Given the description of an element on the screen output the (x, y) to click on. 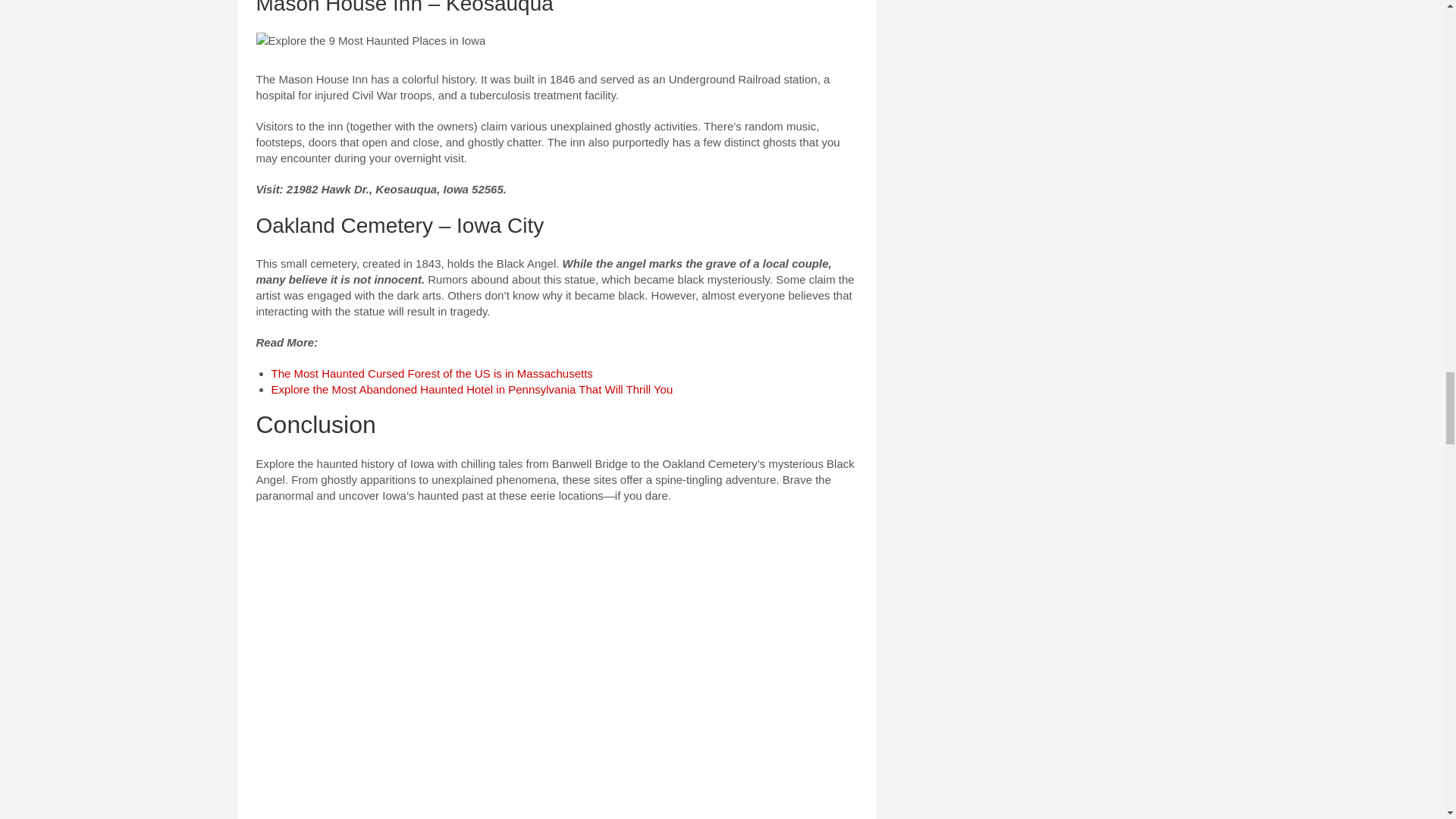
The Most Haunted Cursed Forest of the US is in Massachusetts (431, 373)
